Given the description of an element on the screen output the (x, y) to click on. 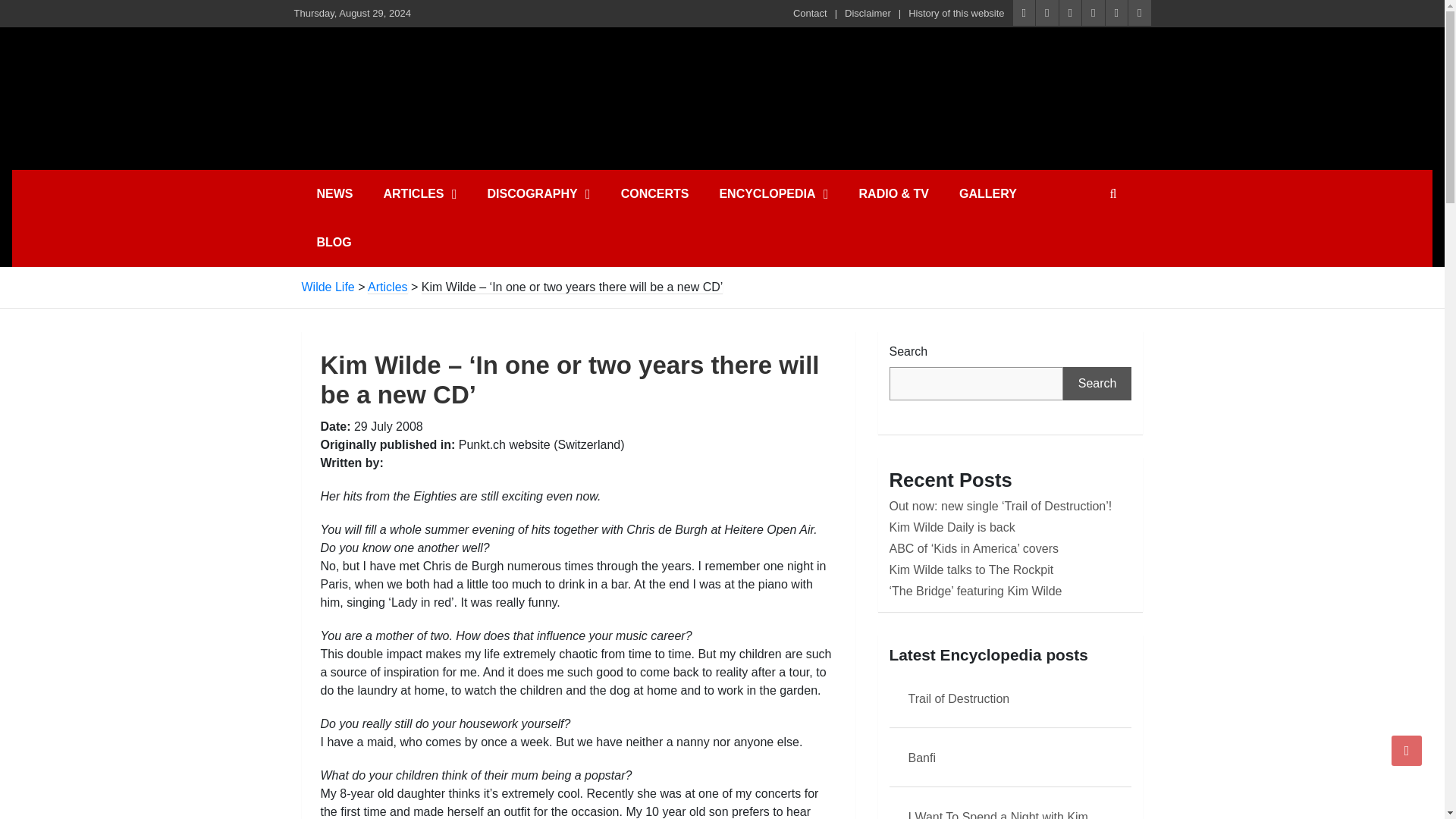
Go to Articles. (387, 286)
Go to Wilde Life. (328, 286)
ARTICLES (419, 193)
ENCYCLOPEDIA (773, 193)
Contact (810, 13)
NEWS (334, 193)
Wilde Life (442, 62)
Disclaimer (867, 13)
CONCERTS (654, 193)
Go to Top (1406, 750)
